Given the description of an element on the screen output the (x, y) to click on. 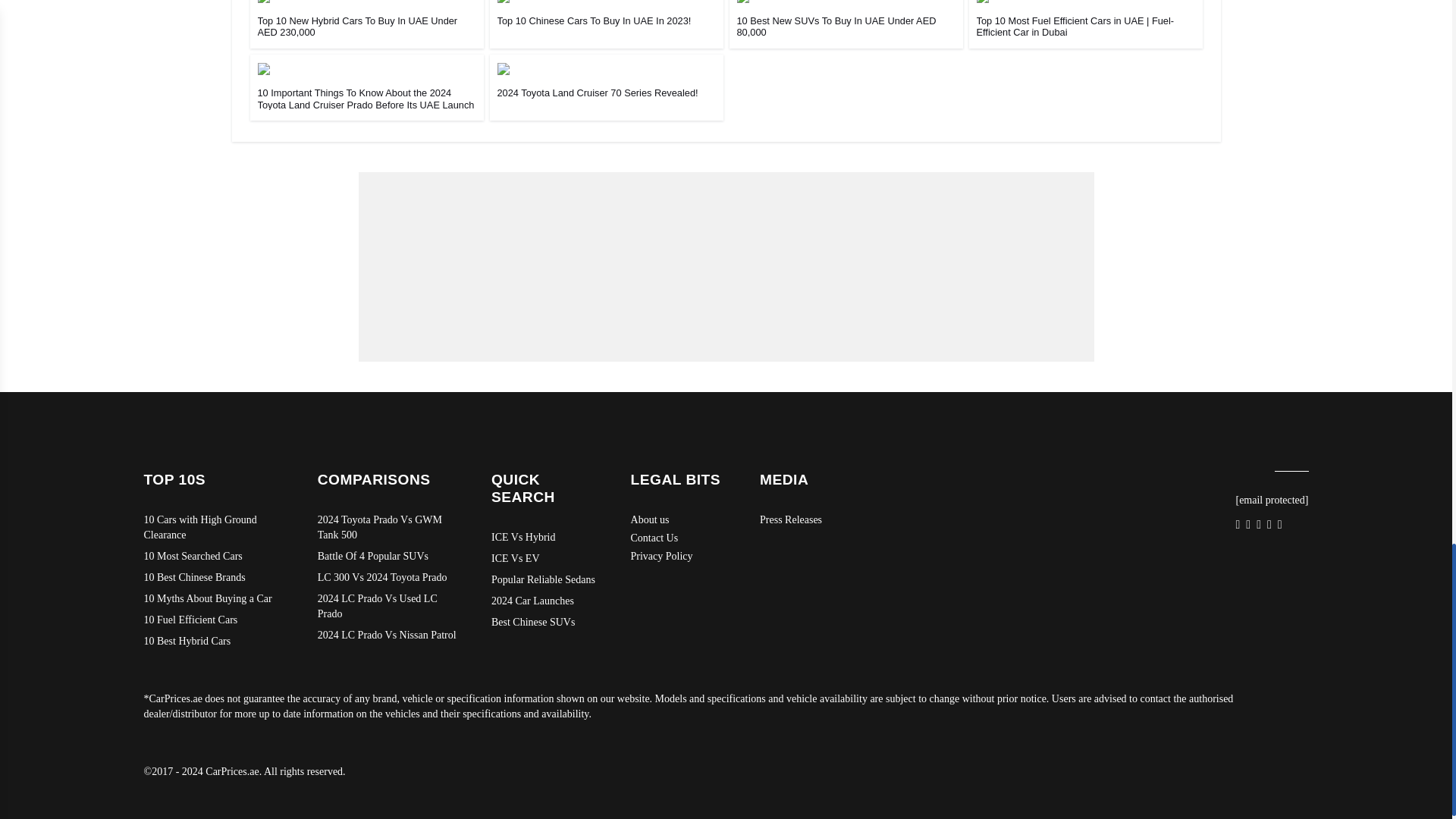
10 Cars with High Ground Clearance (215, 527)
10 Fuel Efficient Cars (215, 620)
10 Best Chinese Brands (215, 577)
10 Most Searched Cars (215, 556)
10 Myths About Buying a Car (215, 598)
